Given the description of an element on the screen output the (x, y) to click on. 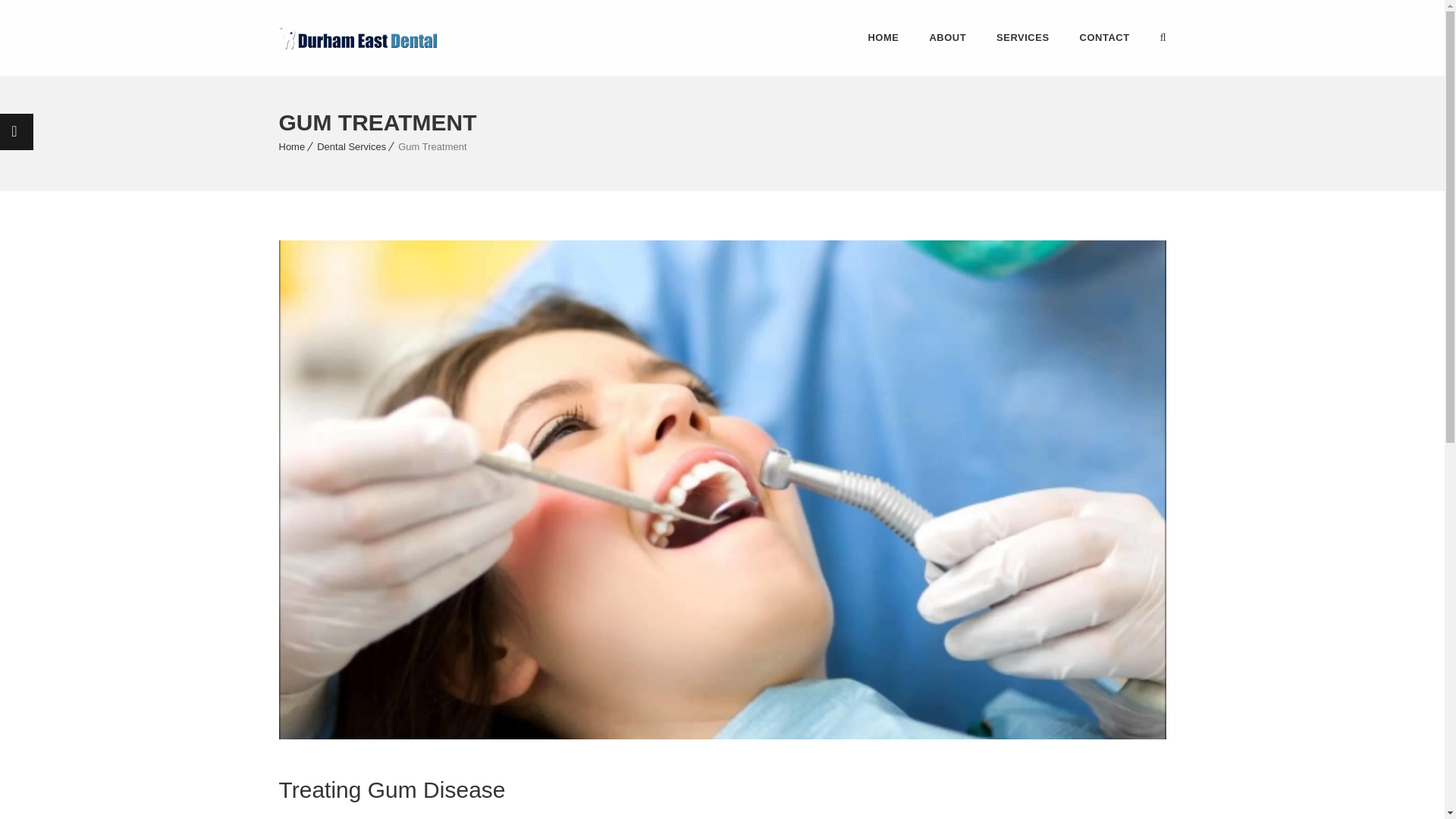
ABOUT (947, 38)
CONTACT (1104, 38)
SERVICES (1022, 38)
Home (292, 146)
